Given the description of an element on the screen output the (x, y) to click on. 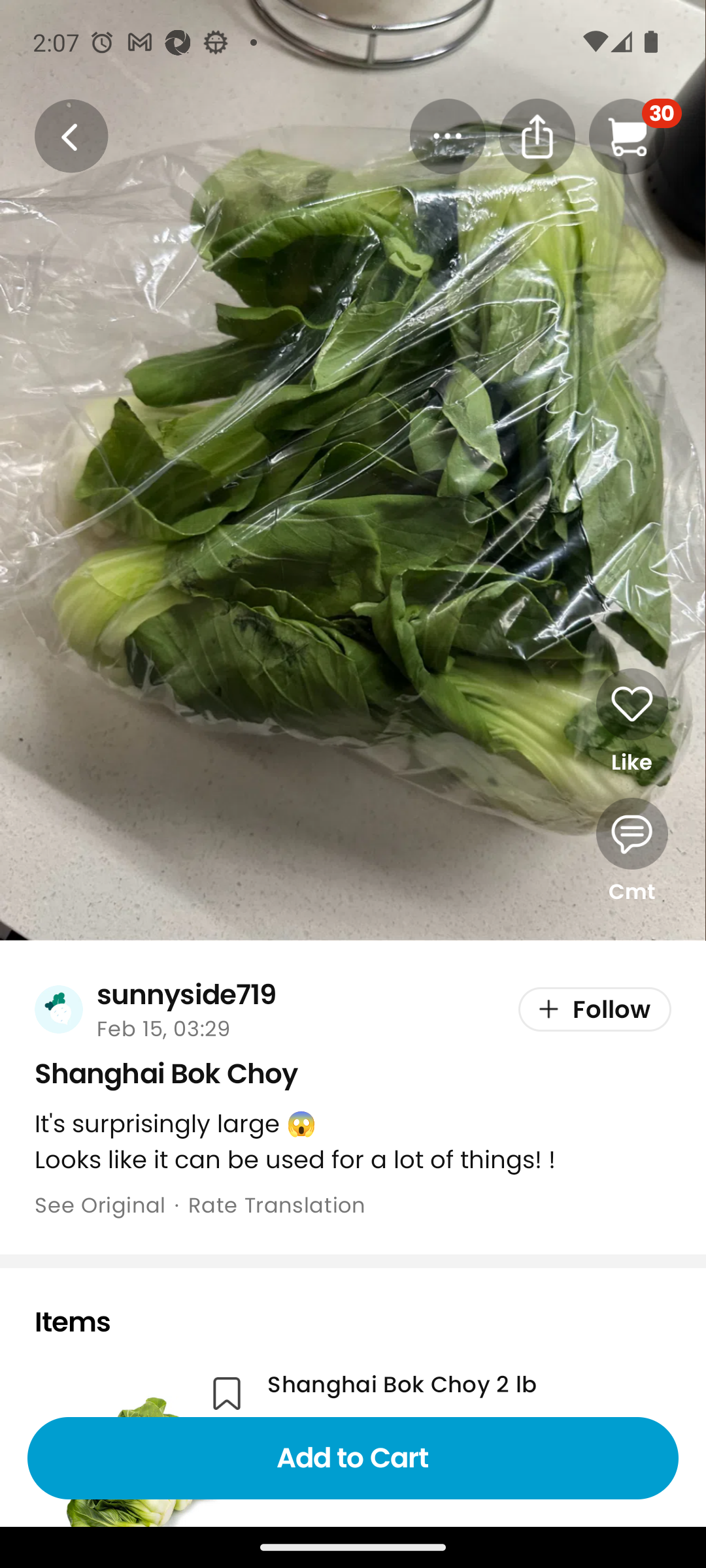
30 (634, 136)
Like (631, 721)
Cmt (631, 852)
sunnyside719 (186, 994)
Follow (594, 1009)
See Original (99, 1204)
Rate Translation (276, 1204)
Add to Cart (352, 1458)
